Given the description of an element on the screen output the (x, y) to click on. 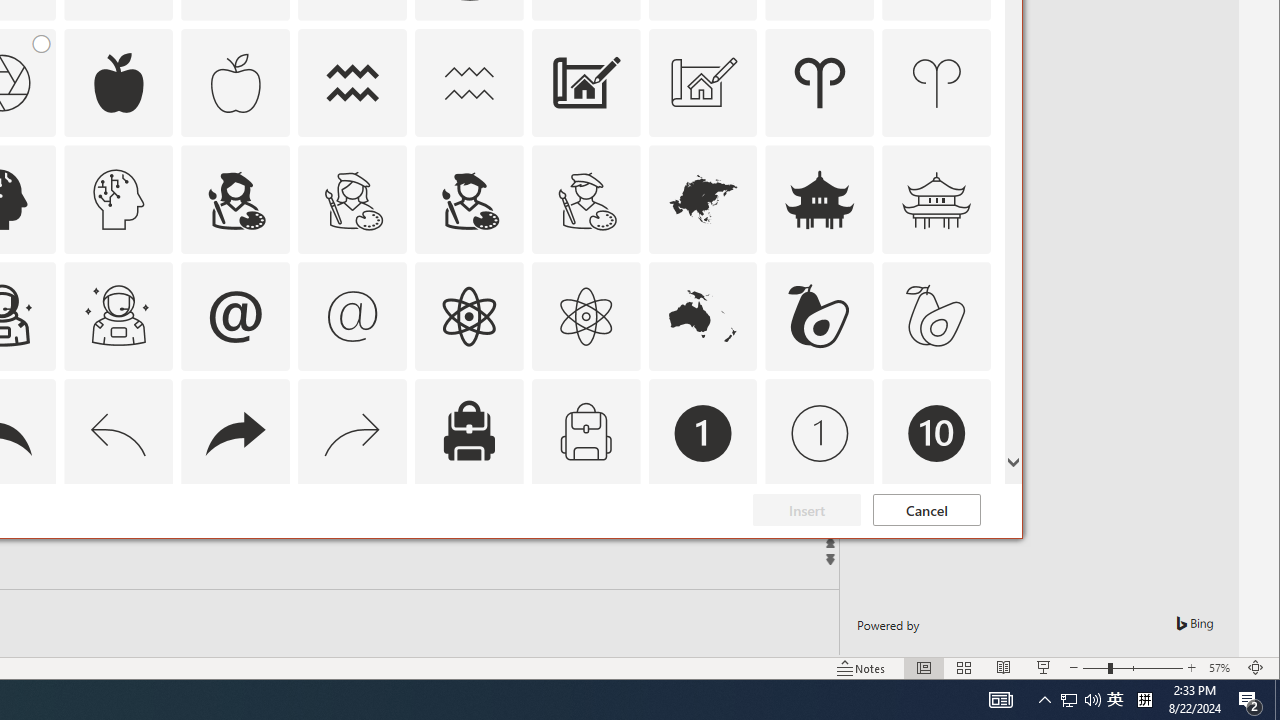
AutomationID: 4105 (1000, 699)
AutomationID: Icons_Badge8 (586, 550)
Q2790: 100% (1092, 699)
AutomationID: Icons_Badge10 (936, 434)
User Promoted Notification Area (1080, 699)
AutomationID: Icons_ArtistFemale (235, 200)
AutomationID: Icons_Badge1_M (819, 434)
AutomationID: Icons_Back_RTL (235, 434)
